Given the description of an element on the screen output the (x, y) to click on. 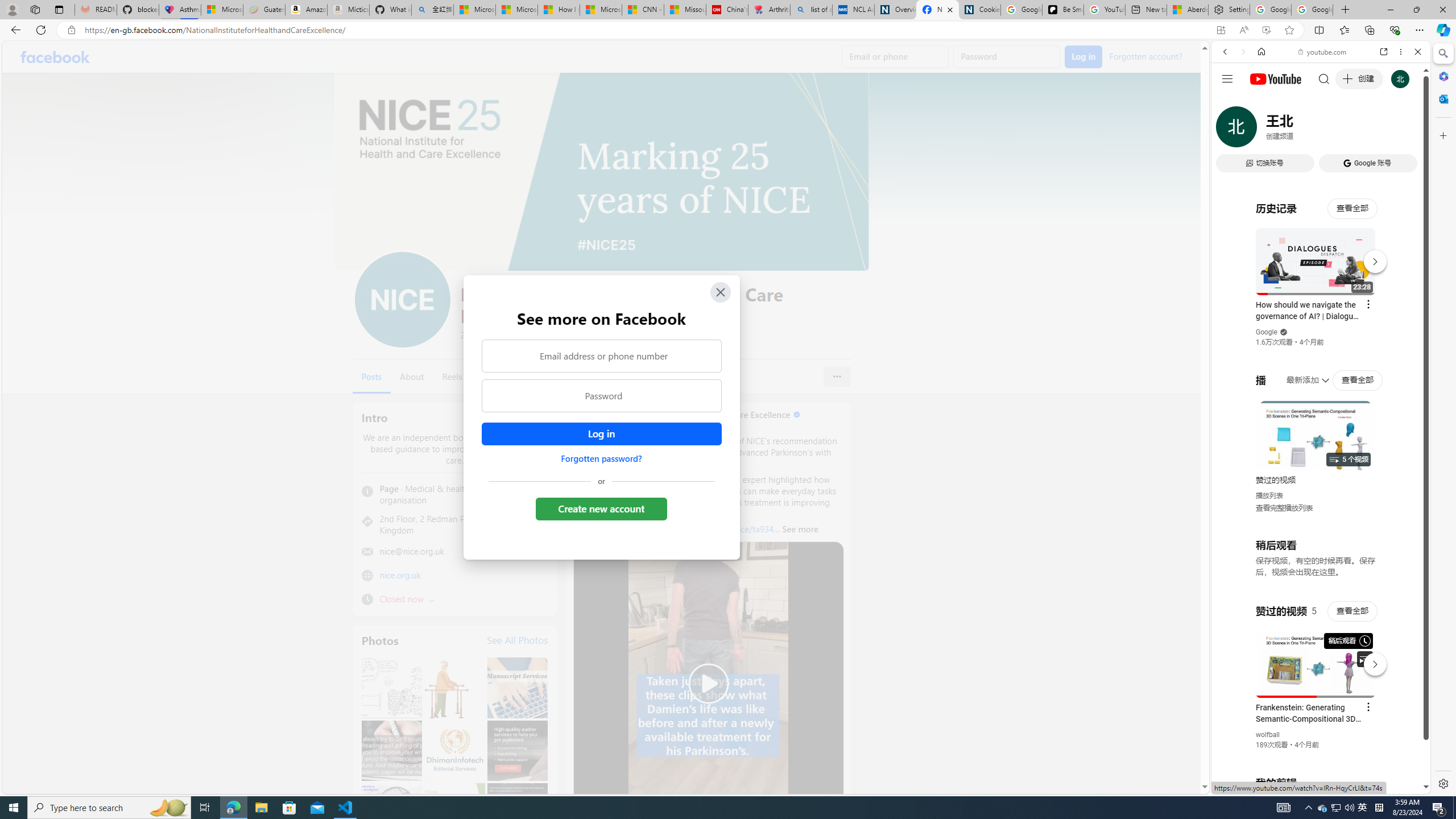
Facebook (55, 56)
Email address or phone number (600, 355)
Asthma Inhalers: Names and Types (179, 9)
NCL Adult Asthma Inhaler Choice Guideline (853, 9)
Facebook (55, 56)
#you (1320, 253)
WEB   (1230, 130)
Accessible login button (601, 433)
Password (600, 395)
